Given the description of an element on the screen output the (x, y) to click on. 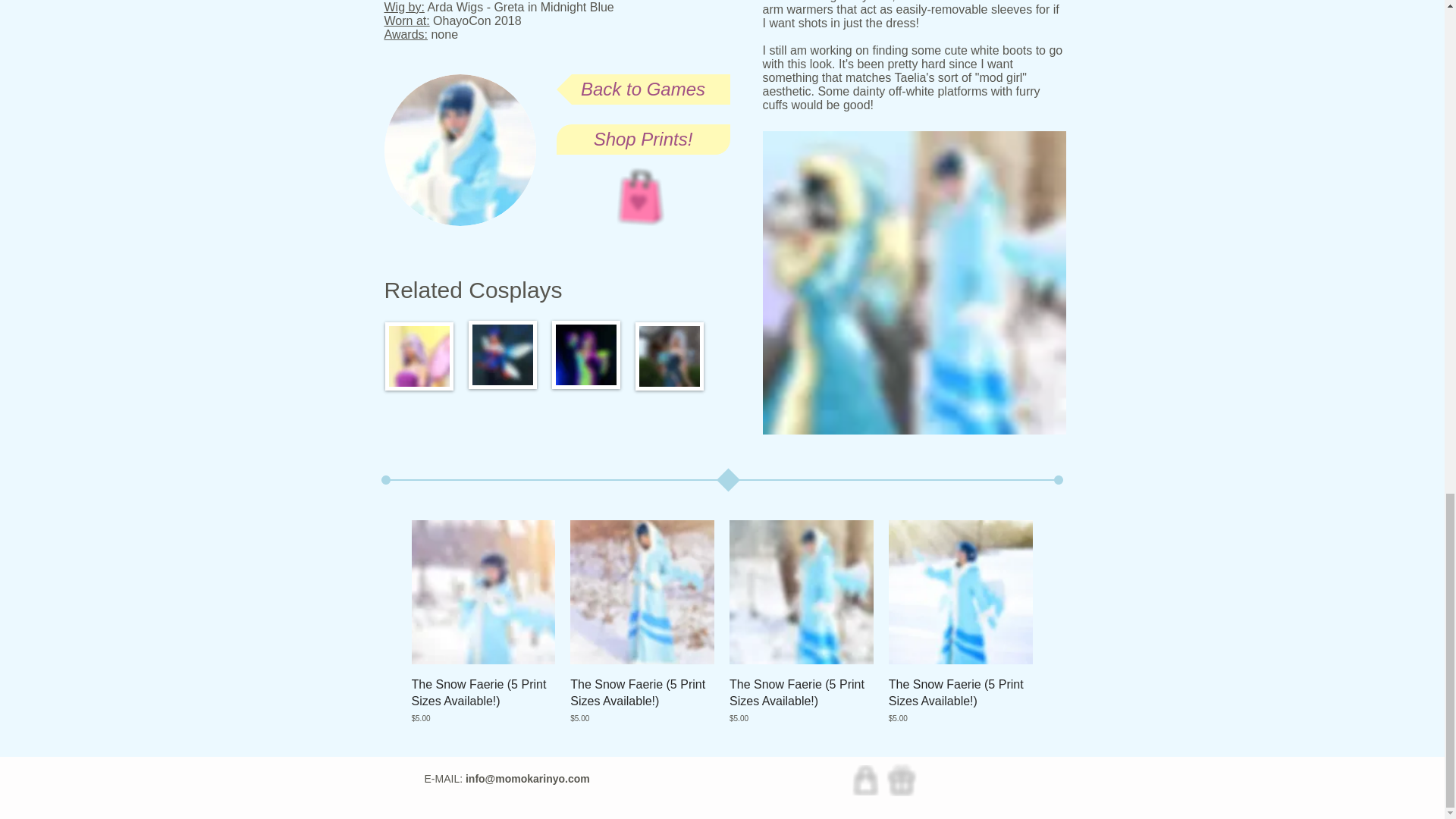
Shop Prints! (643, 139)
Back to Games (643, 89)
